Given the description of an element on the screen output the (x, y) to click on. 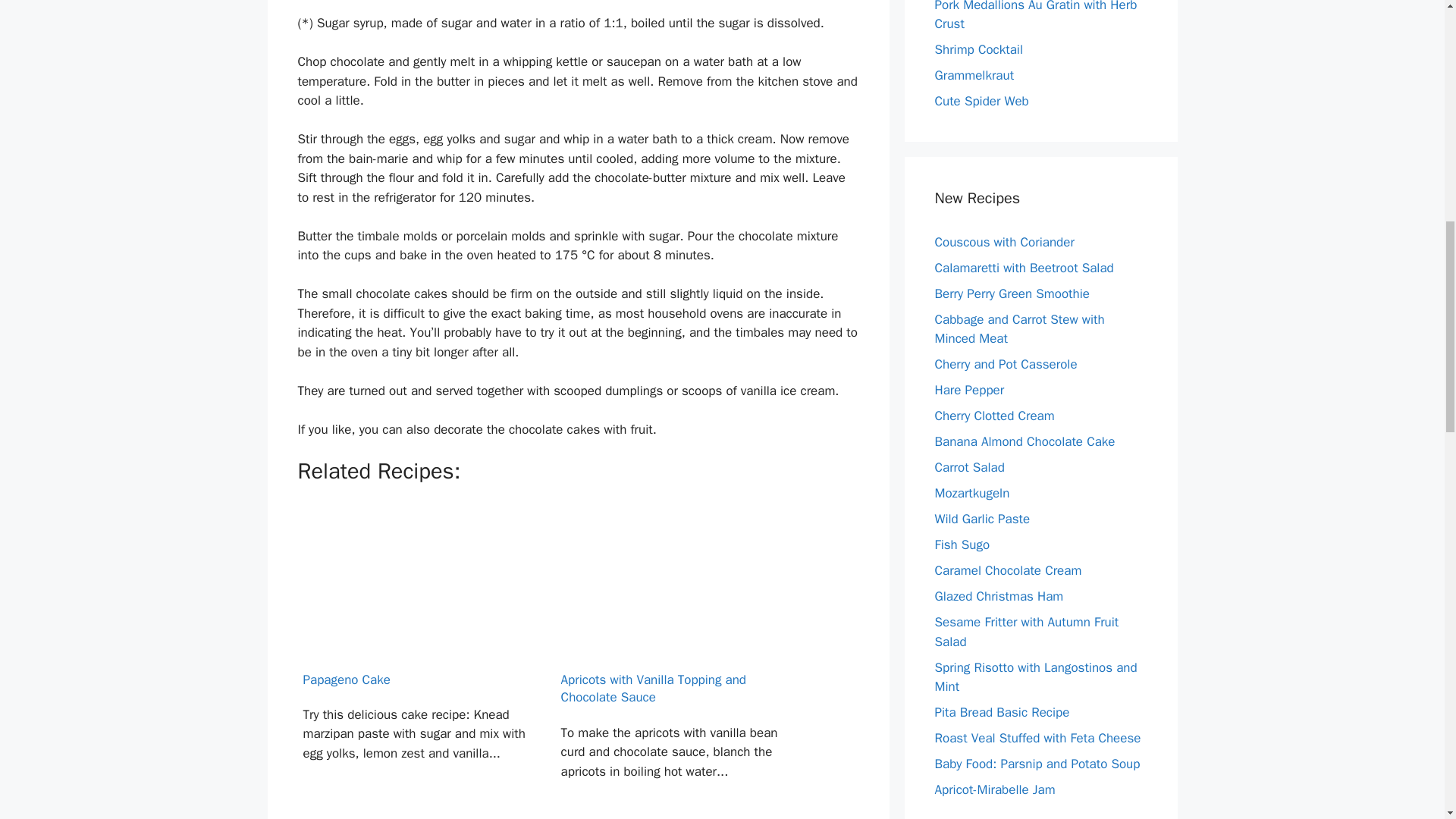
Cute Spider Web (980, 100)
Apricots with Vanilla Topping and Chocolate Sauce (673, 659)
Papageno Cake (414, 659)
Couscous with Coriander (1004, 241)
Pork Medallions Au Gratin with Herb Crust (1035, 16)
Shrimp Cocktail (978, 49)
Grammelkraut (973, 75)
